Given the description of an element on the screen output the (x, y) to click on. 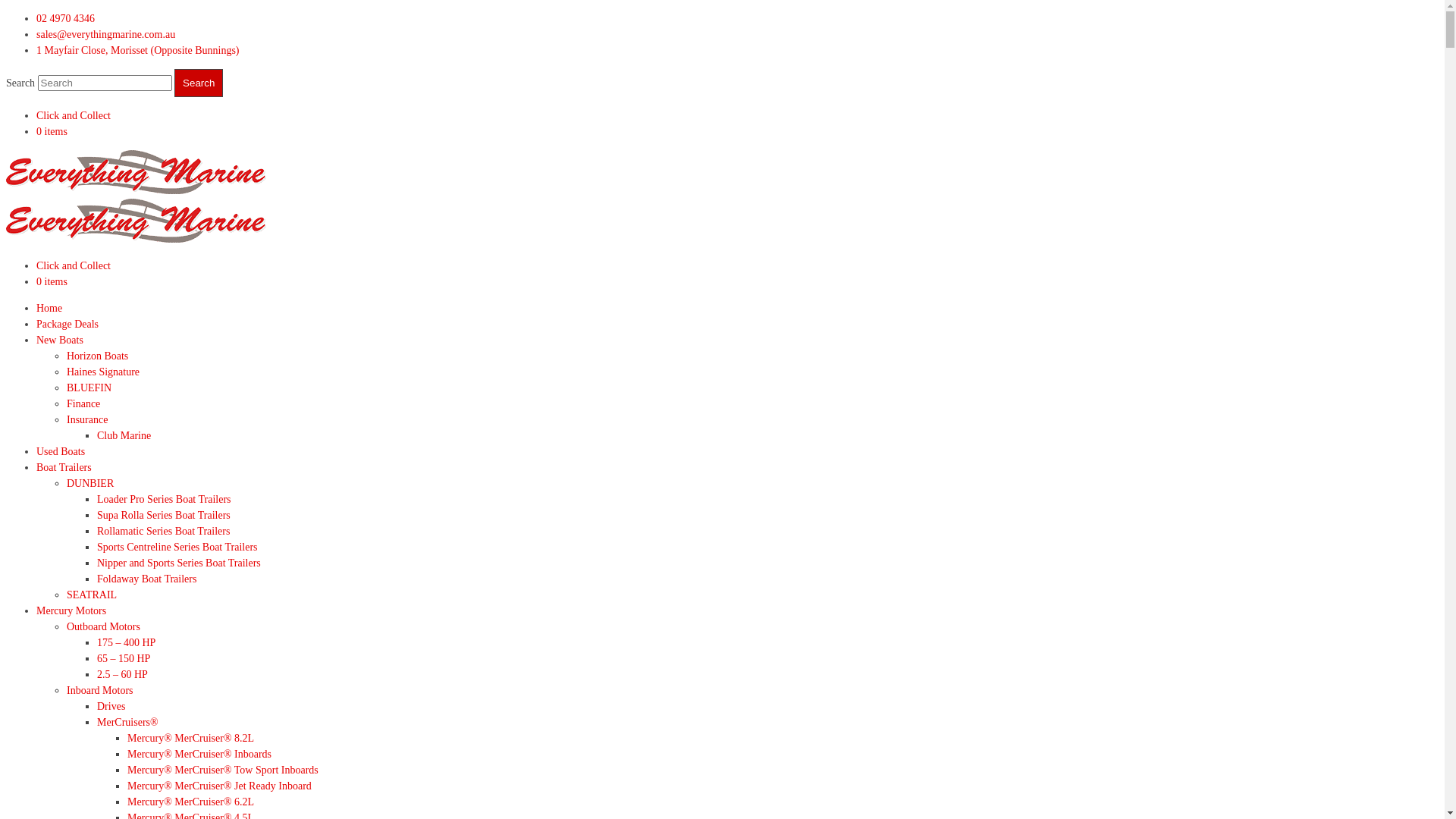
Nipper and Sports Series Boat Trailers Element type: text (178, 562)
Package Deals Element type: text (67, 323)
Search Element type: text (198, 83)
0 items Element type: text (51, 281)
Loader Pro Series Boat Trailers Element type: text (164, 499)
Insurance Element type: text (86, 419)
Used Boats Element type: text (60, 451)
Outboard Motors Element type: text (103, 626)
Inboard Motors Element type: text (99, 690)
Click and Collect Element type: text (73, 115)
New Boats Element type: text (59, 339)
Haines Signature Element type: text (102, 371)
Horizon Boats Element type: text (97, 355)
Boat Trailers Element type: text (63, 467)
Mercury Motors Element type: text (71, 610)
02 4970 4346 Element type: text (65, 18)
Finance Element type: text (83, 403)
Drives Element type: text (111, 706)
Club Marine Element type: text (123, 435)
0 items Element type: text (51, 131)
1 Mayfair Close, Morisset (Opposite Bunnings) Element type: text (137, 50)
Click and Collect Element type: text (73, 265)
Sports Centreline Series Boat Trailers Element type: text (177, 546)
BLUEFIN Element type: text (88, 387)
sales@everythingmarine.com.au Element type: text (105, 34)
Supa Rolla Series Boat Trailers Element type: text (163, 514)
SEATRAIL Element type: text (91, 594)
Home Element type: text (49, 307)
Foldaway Boat Trailers Element type: text (146, 578)
Rollamatic Series Boat Trailers Element type: text (163, 530)
DUNBIER Element type: text (89, 483)
